Given the description of an element on the screen output the (x, y) to click on. 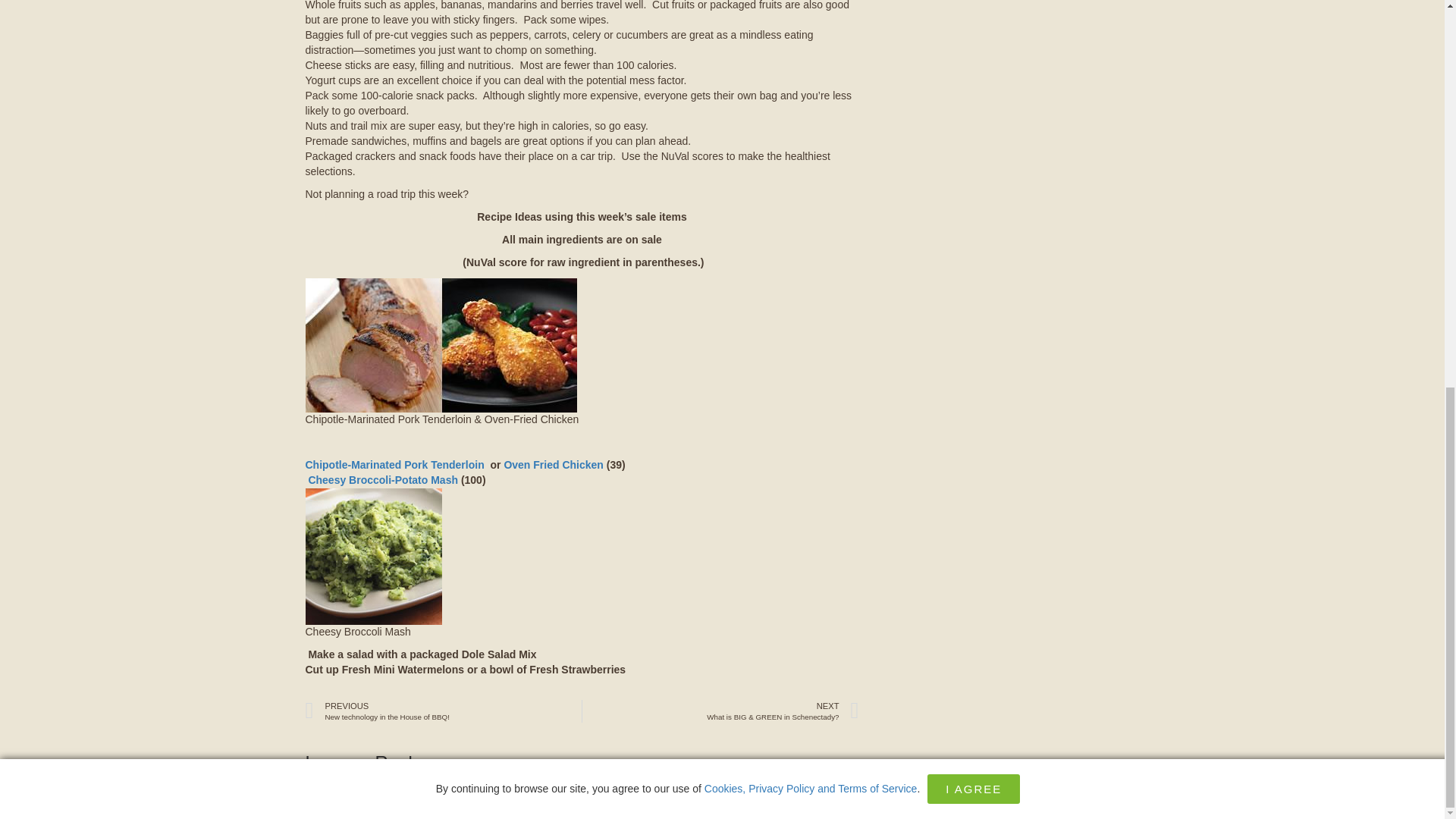
Chipotle-Marinated Pork Tenderloin (395, 464)
Oven Fried Chicken (552, 464)
Cheesy Broccoli-Potato Mash (382, 480)
logged in (388, 787)
Cheesy Broccoli Mash (372, 556)
Cookies, Privacy Policy and Terms of Service (810, 55)
Chipotle-Marinated Pork Tenderloin (440, 345)
I AGREE (442, 711)
